Given the description of an element on the screen output the (x, y) to click on. 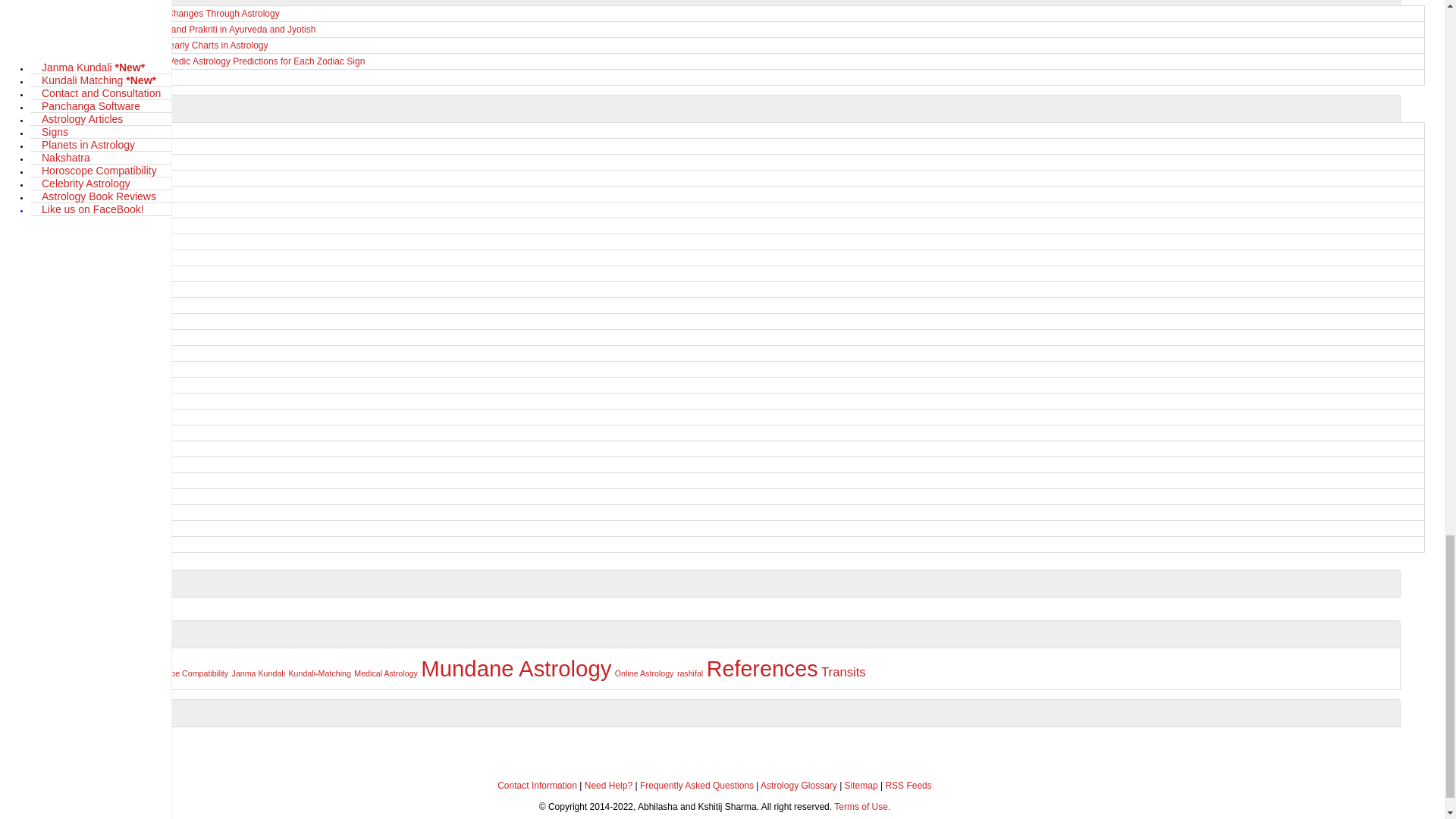
Unlocking Career Paths and Job Changes Through Astrology (723, 13)
Understanding Oath-Taking and Yearly Charts in Astrology (723, 45)
